Given the description of an element on the screen output the (x, y) to click on. 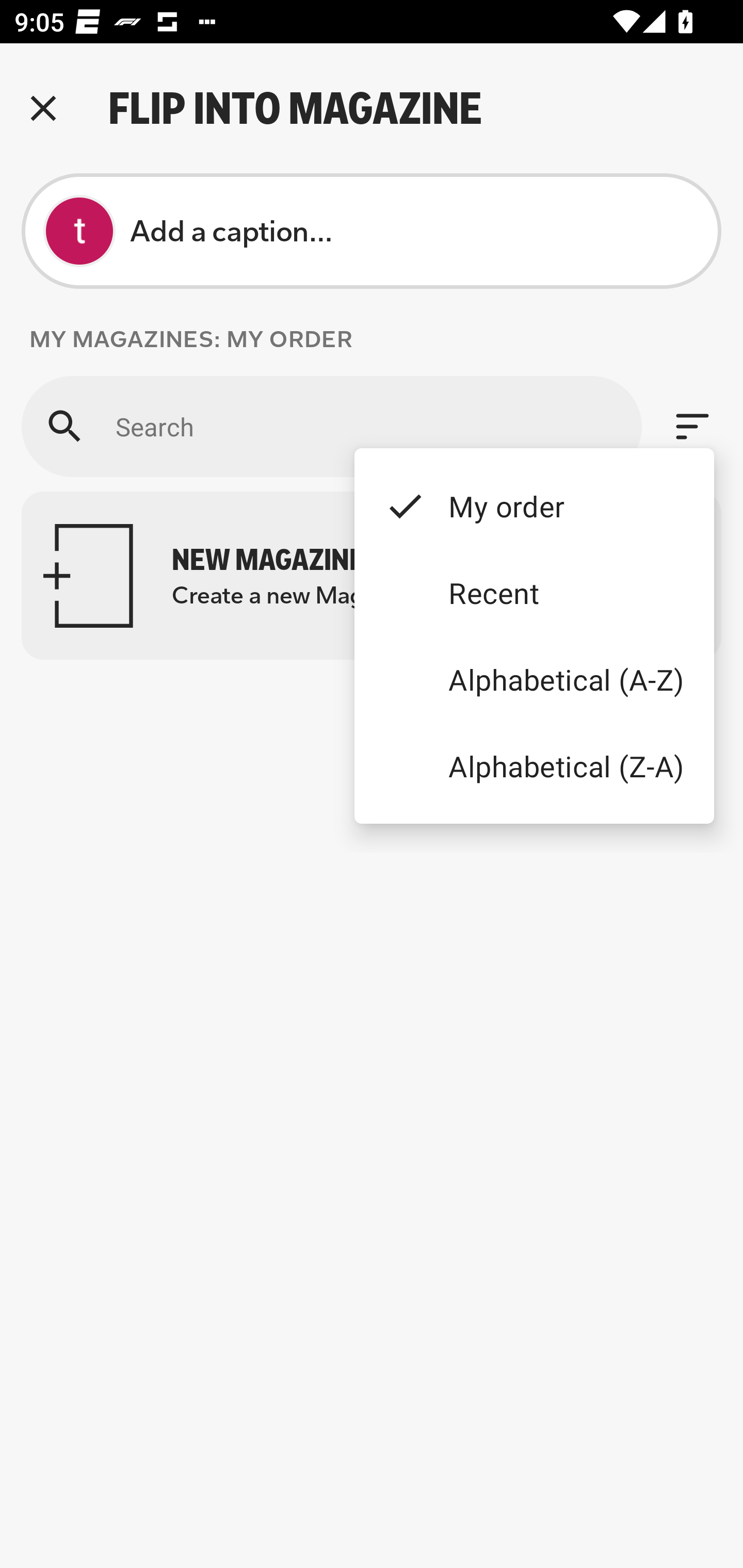
My order (534, 505)
Recent (534, 592)
Alphabetical (A-Z) (534, 679)
Alphabetical (Z-A) (534, 765)
